Given the description of an element on the screen output the (x, y) to click on. 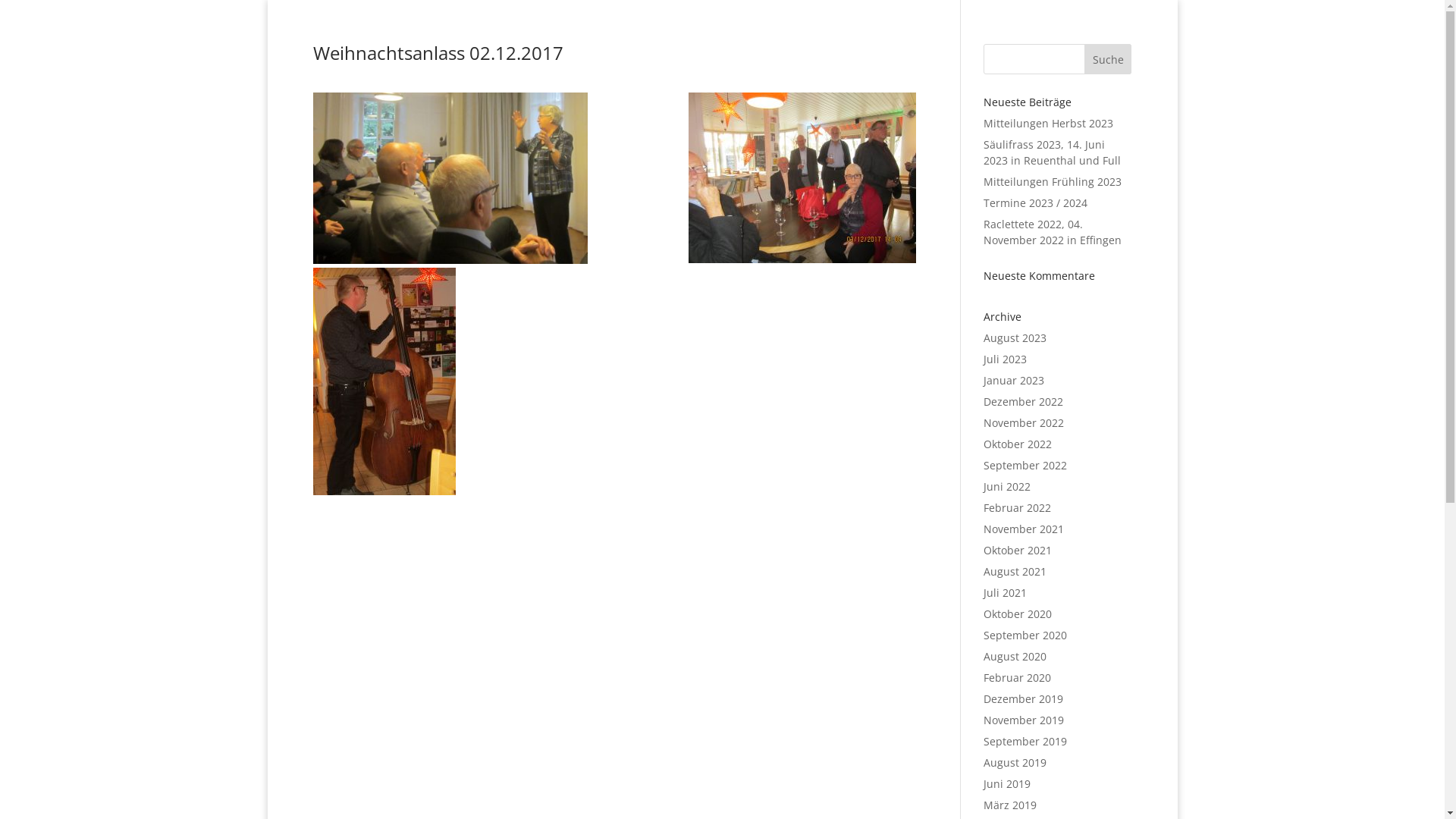
Februar 2022 Element type: text (1017, 507)
November 2019 Element type: text (1023, 719)
Mitteilungen Herbst 2023 Element type: text (1048, 123)
Dezember 2019 Element type: text (1023, 698)
Dezember 2022 Element type: text (1023, 401)
September 2022 Element type: text (1024, 465)
August 2020 Element type: text (1014, 656)
August 2023 Element type: text (1014, 337)
Oktober 2021 Element type: text (1017, 549)
Oktober 2020 Element type: text (1017, 613)
Juni 2022 Element type: text (1006, 486)
Juni 2019 Element type: text (1006, 783)
August 2021 Element type: text (1014, 571)
Februar 2020 Element type: text (1017, 677)
September 2020 Element type: text (1024, 634)
Oktober 2022 Element type: text (1017, 443)
Raclettete 2022, 04. November 2022 in Effingen Element type: text (1052, 231)
Juli 2021 Element type: text (1004, 592)
Januar 2023 Element type: text (1013, 380)
Suche Element type: text (1108, 58)
August 2019 Element type: text (1014, 762)
Juli 2023 Element type: text (1004, 358)
Termine 2023 / 2024 Element type: text (1035, 202)
September 2019 Element type: text (1024, 741)
November 2021 Element type: text (1023, 528)
November 2022 Element type: text (1023, 422)
